Given the description of an element on the screen output the (x, y) to click on. 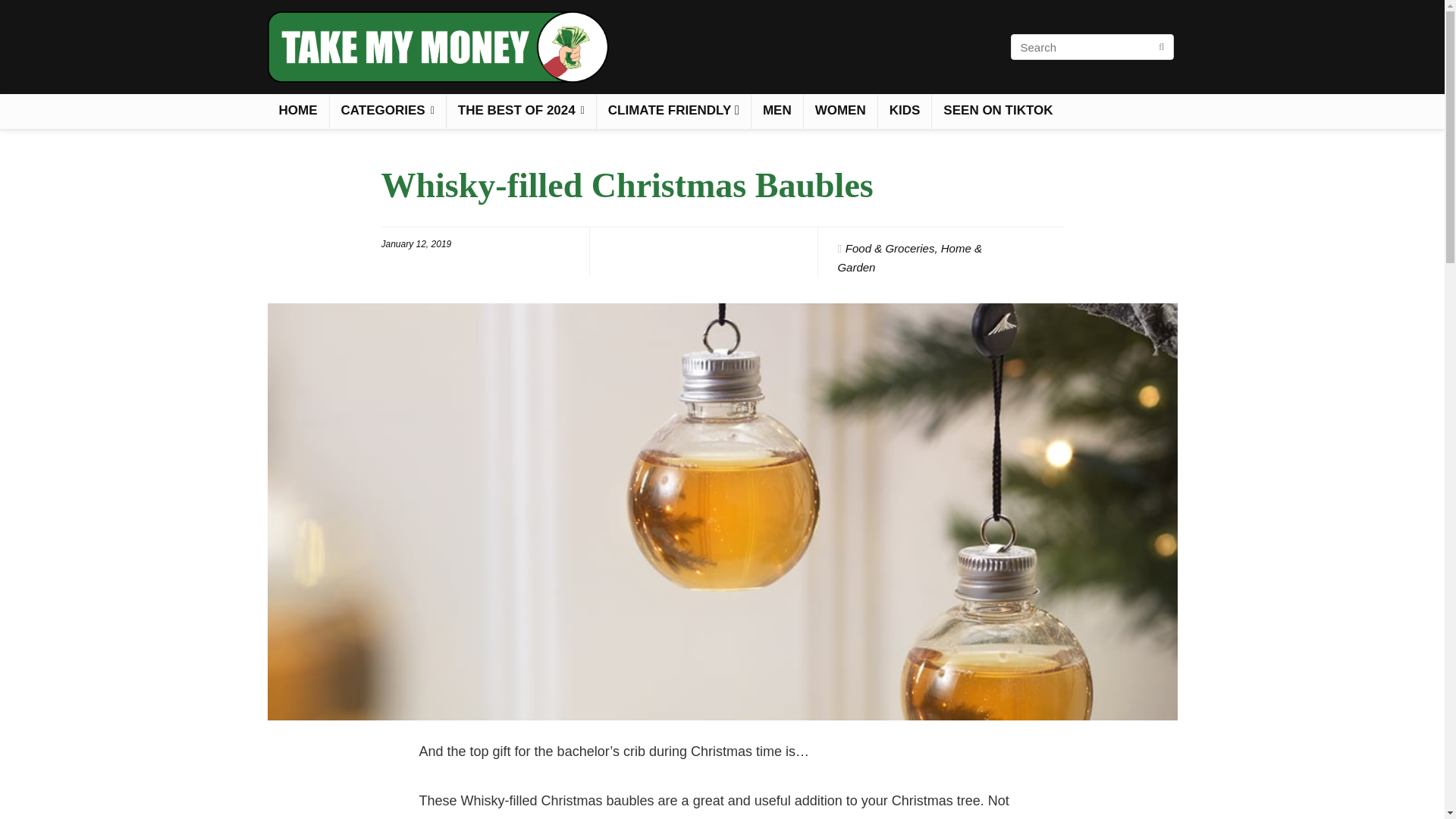
KIDS (904, 111)
MEN (777, 111)
CATEGORIES (387, 111)
HOME (297, 111)
THE BEST OF 2024 (520, 111)
SEEN ON TIKTOK (997, 111)
WOMEN (840, 111)
